Given the description of an element on the screen output the (x, y) to click on. 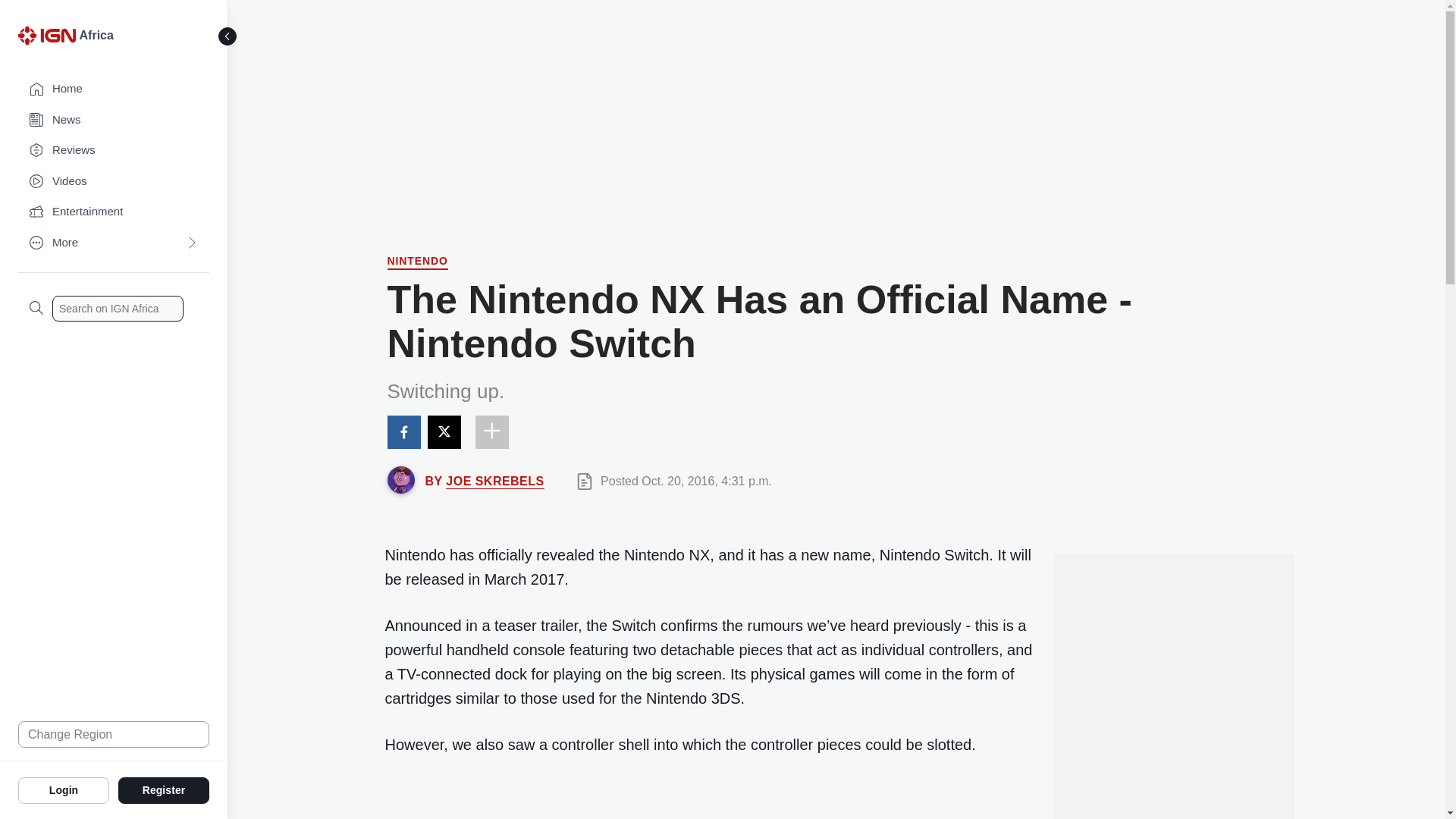
Entertainment (113, 211)
Toggle Sidebar (226, 36)
News (113, 119)
IGN Logo (48, 39)
NINTENDO (416, 262)
Reviews (113, 150)
IGN Logo (46, 34)
Nintendo (416, 262)
Videos (113, 181)
Home (113, 89)
More (113, 242)
JOE SKREBELS (494, 481)
Login (63, 789)
Register (163, 789)
